Given the description of an element on the screen output the (x, y) to click on. 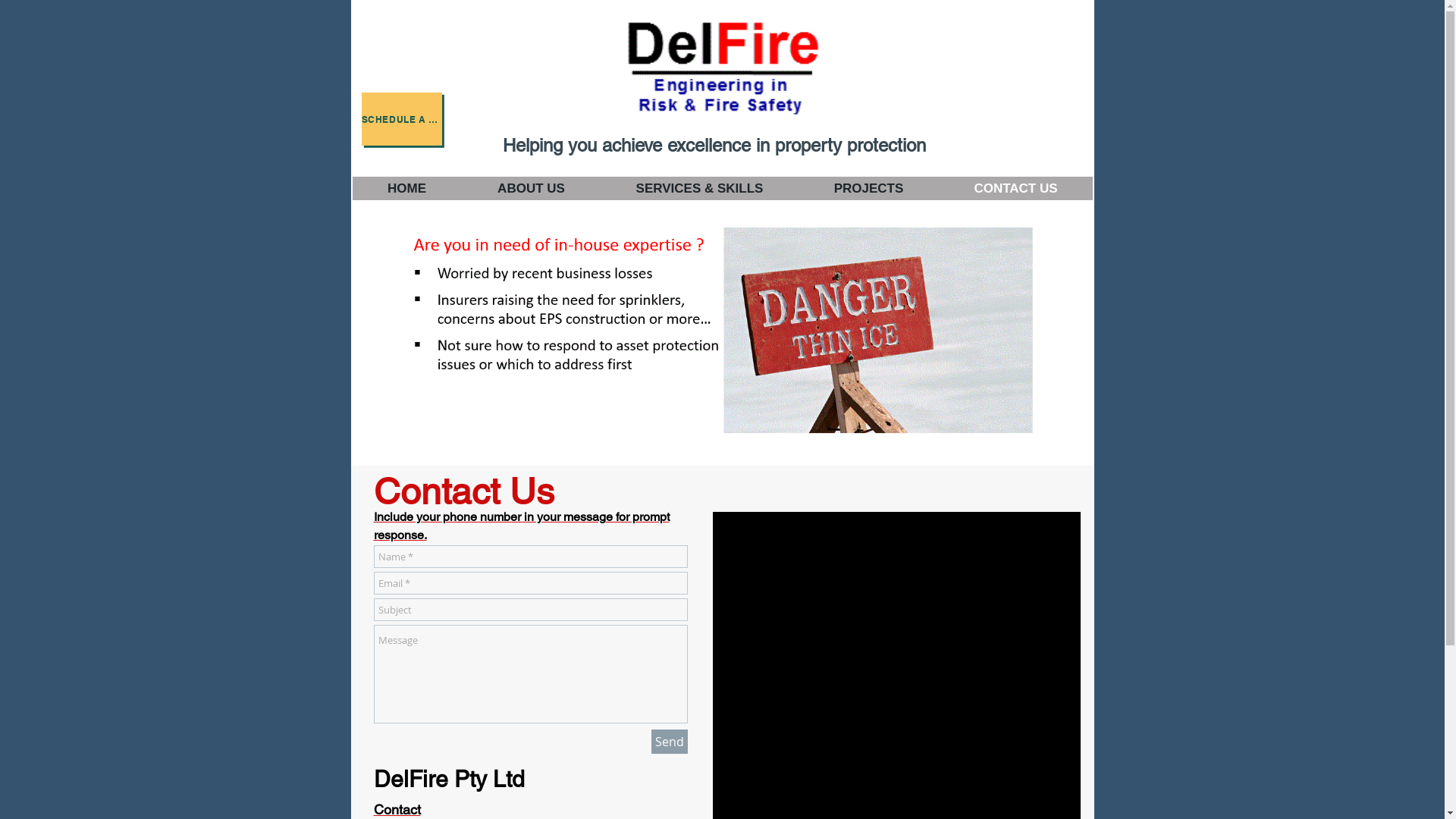
CONTACT US Element type: text (1015, 188)
PROJECTS Element type: text (867, 188)
HOME Element type: text (406, 188)
ABOUT US Element type: text (530, 188)
SERVICES & SKILLS Element type: text (699, 188)
SCHEDULE A CONSULTATION Element type: text (400, 118)
Send Element type: text (668, 741)
